Given the description of an element on the screen output the (x, y) to click on. 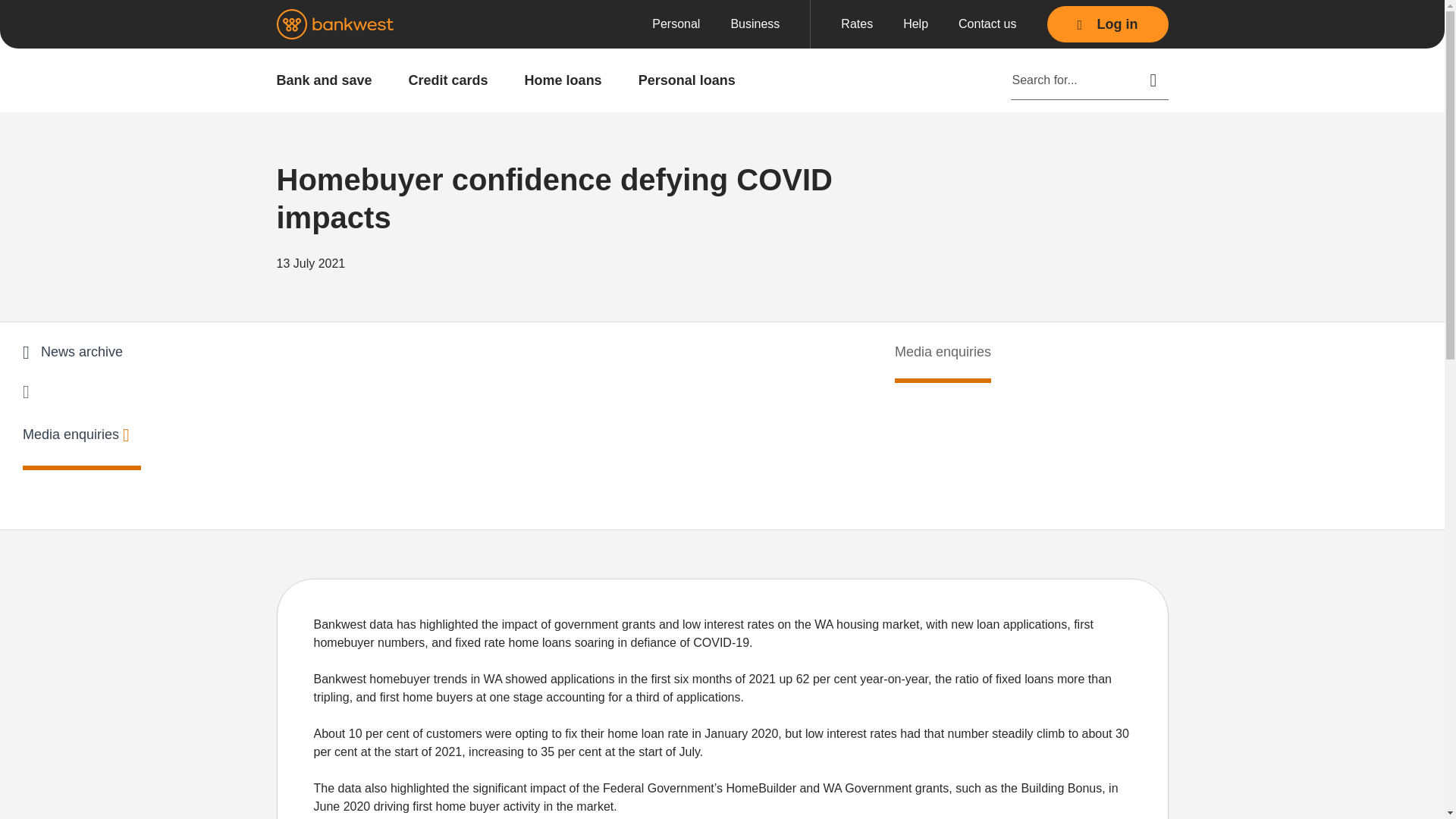
Contact us (987, 24)
Log in (1107, 23)
Personal (676, 24)
Business (754, 24)
